Given the description of an element on the screen output the (x, y) to click on. 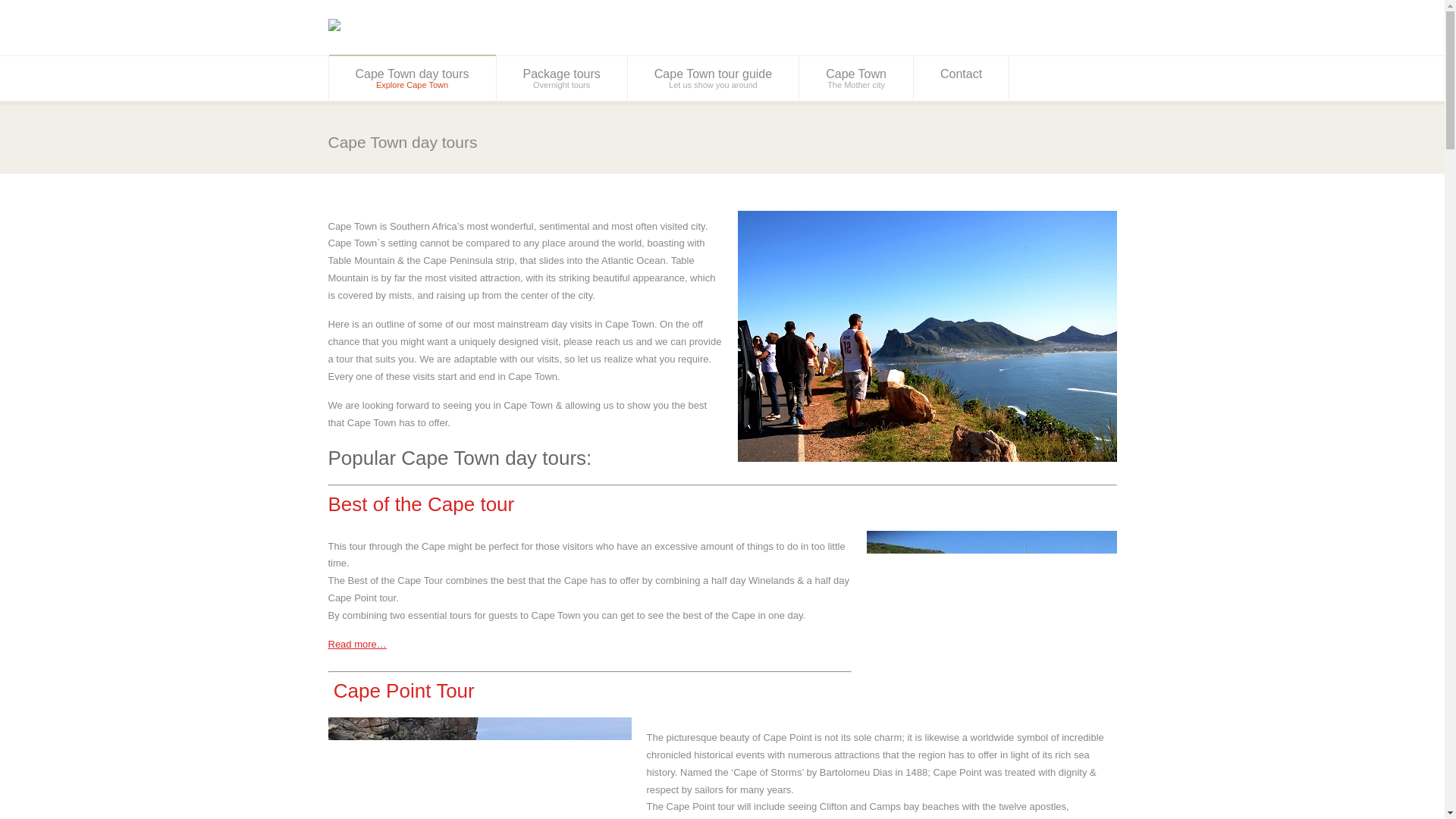
Mile by Mile tours Cape Town (712, 78)
Cape Point Tour (561, 78)
Best of the Cape tour (855, 78)
